Given the description of an element on the screen output the (x, y) to click on. 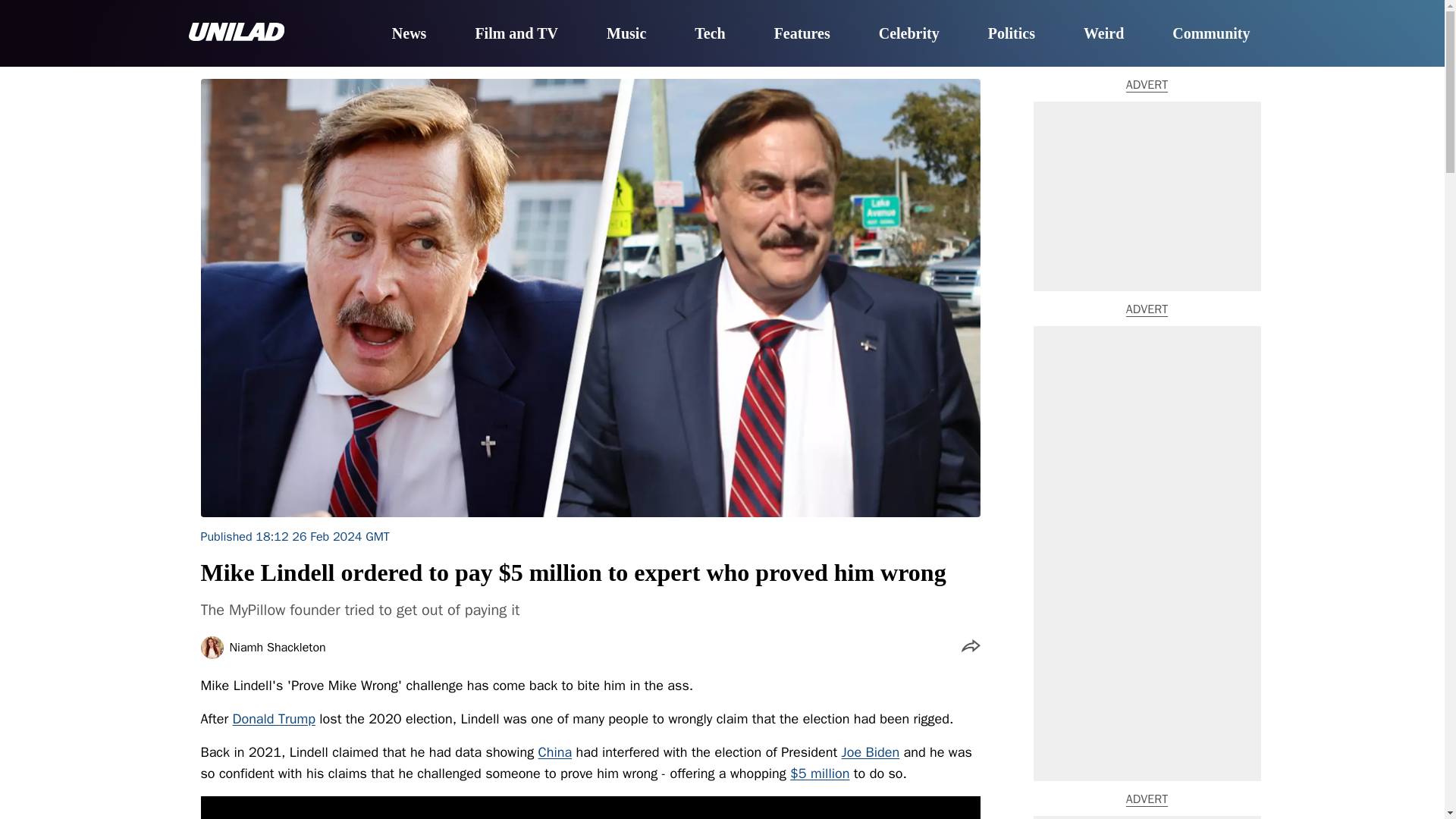
Donald Trump (273, 718)
Music (626, 34)
Community (1210, 34)
China (555, 751)
Joe Biden (870, 751)
Features (801, 34)
Niamh Shackleton (276, 647)
News (408, 34)
Film and TV (515, 34)
Tech (709, 34)
